Given the description of an element on the screen output the (x, y) to click on. 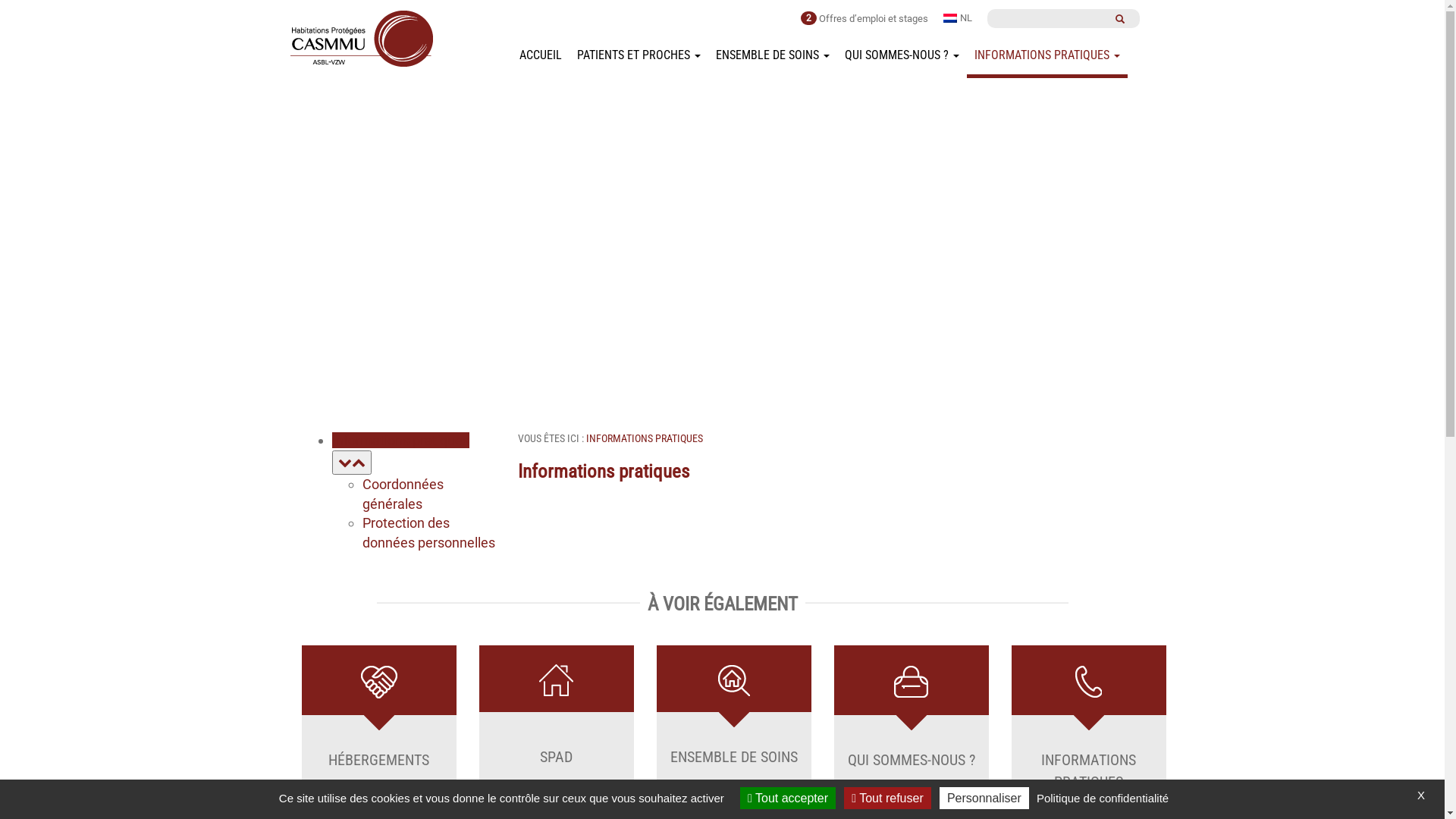
Tout accepter Element type: text (787, 798)
NL Element type: text (957, 16)
PATIENTS ET PROCHES Element type: text (638, 55)
ENSEMBLE DE SOINS Element type: text (772, 55)
Tout refuser Element type: text (887, 798)
Informations pratiques Element type: text (400, 451)
SPAD Element type: text (556, 719)
INFORMATIONS PRATIQUES Element type: text (1046, 57)
ACCUEIL Element type: text (540, 55)
Personnaliser Element type: text (984, 798)
QUI SOMMES-NOUS ? Element type: text (901, 55)
